Given the description of an element on the screen output the (x, y) to click on. 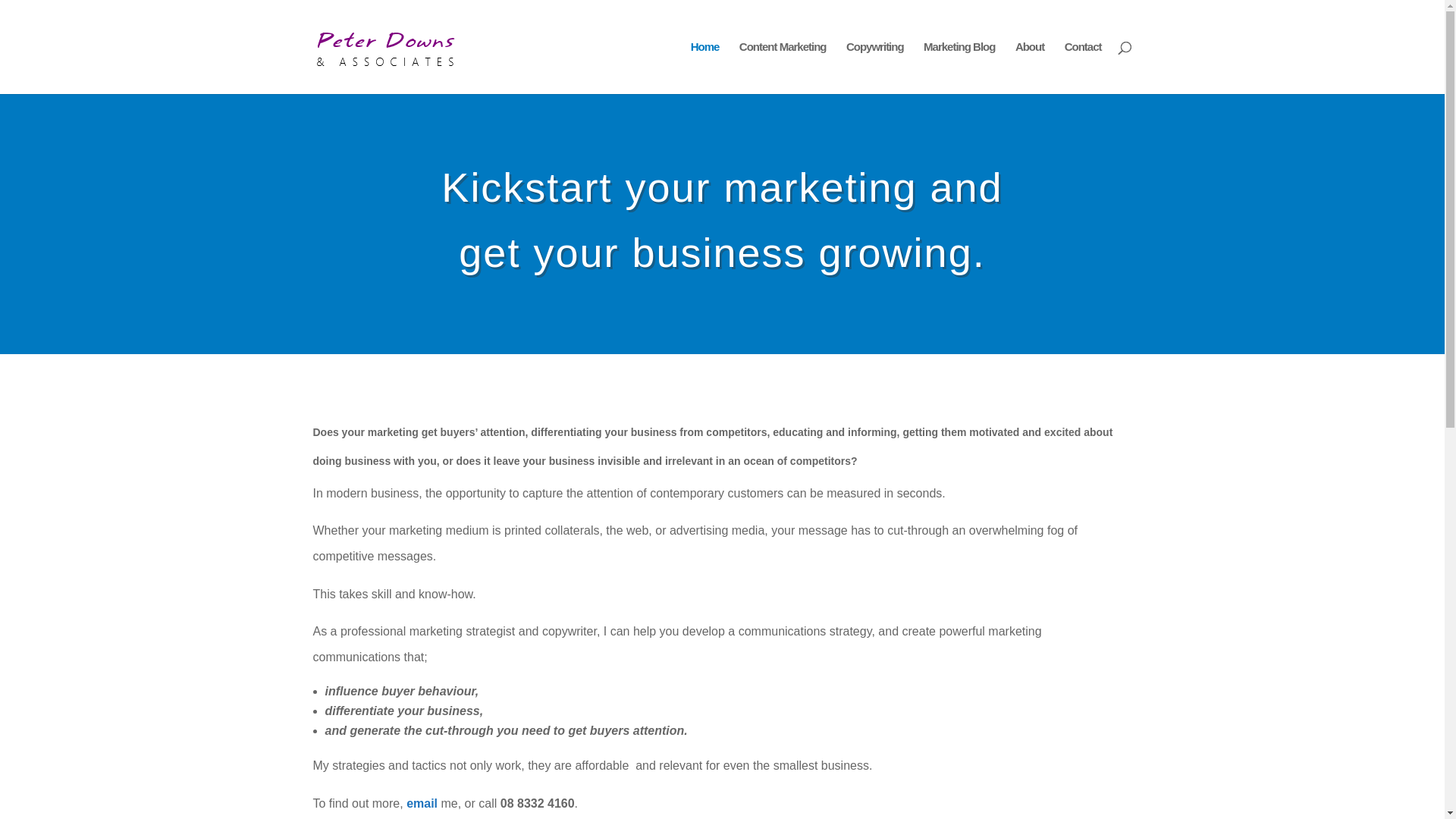
Copywriting Element type: text (874, 67)
Content Marketing Element type: text (782, 67)
Contact Element type: text (1082, 67)
email Element type: text (420, 803)
About Element type: text (1029, 67)
Home Element type: text (704, 67)
Marketing Blog Element type: text (958, 67)
